Given the description of an element on the screen output the (x, y) to click on. 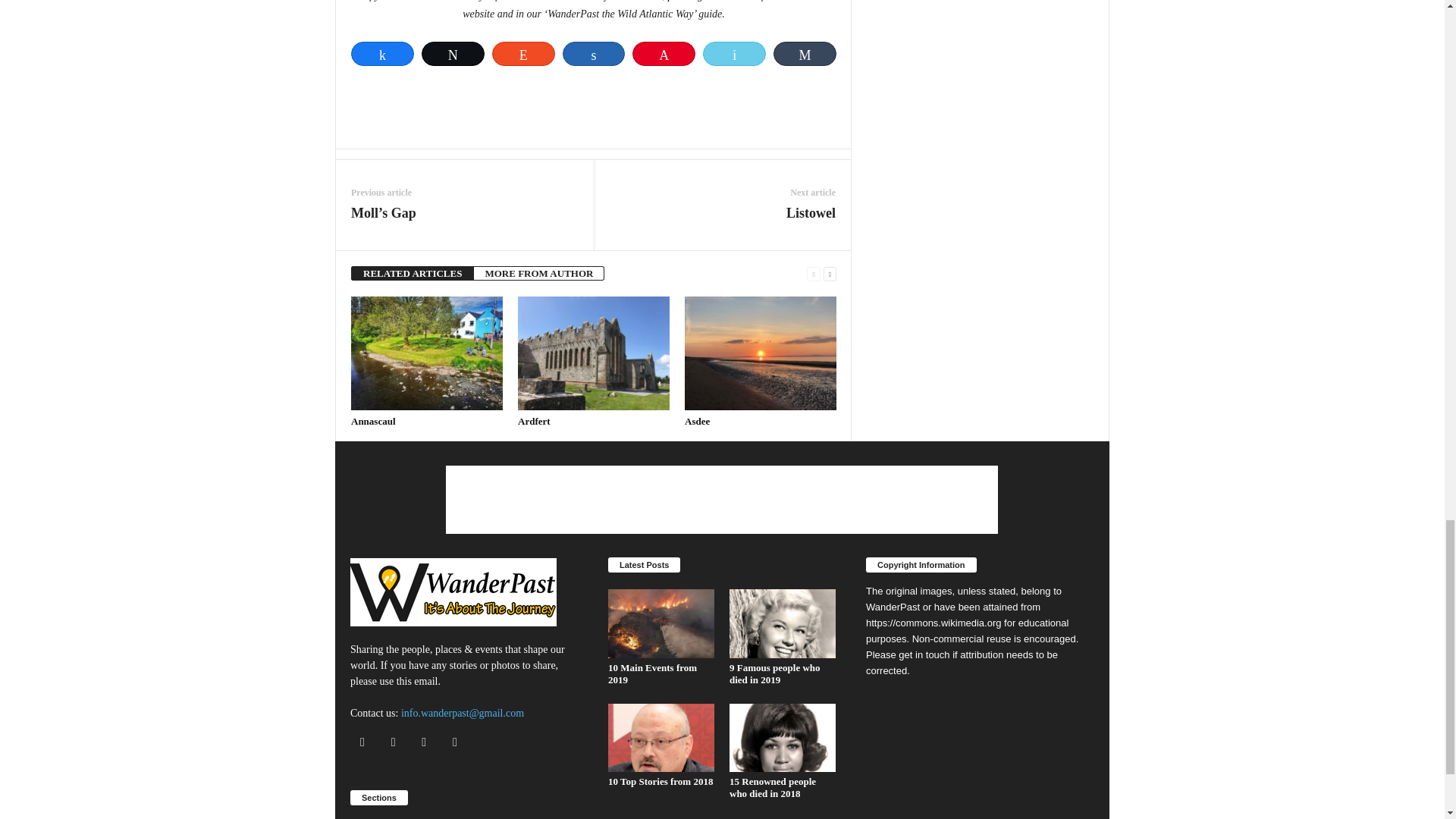
Annascaul (373, 420)
Advertisement (593, 105)
Annascaul (426, 353)
